Given the description of an element on the screen output the (x, y) to click on. 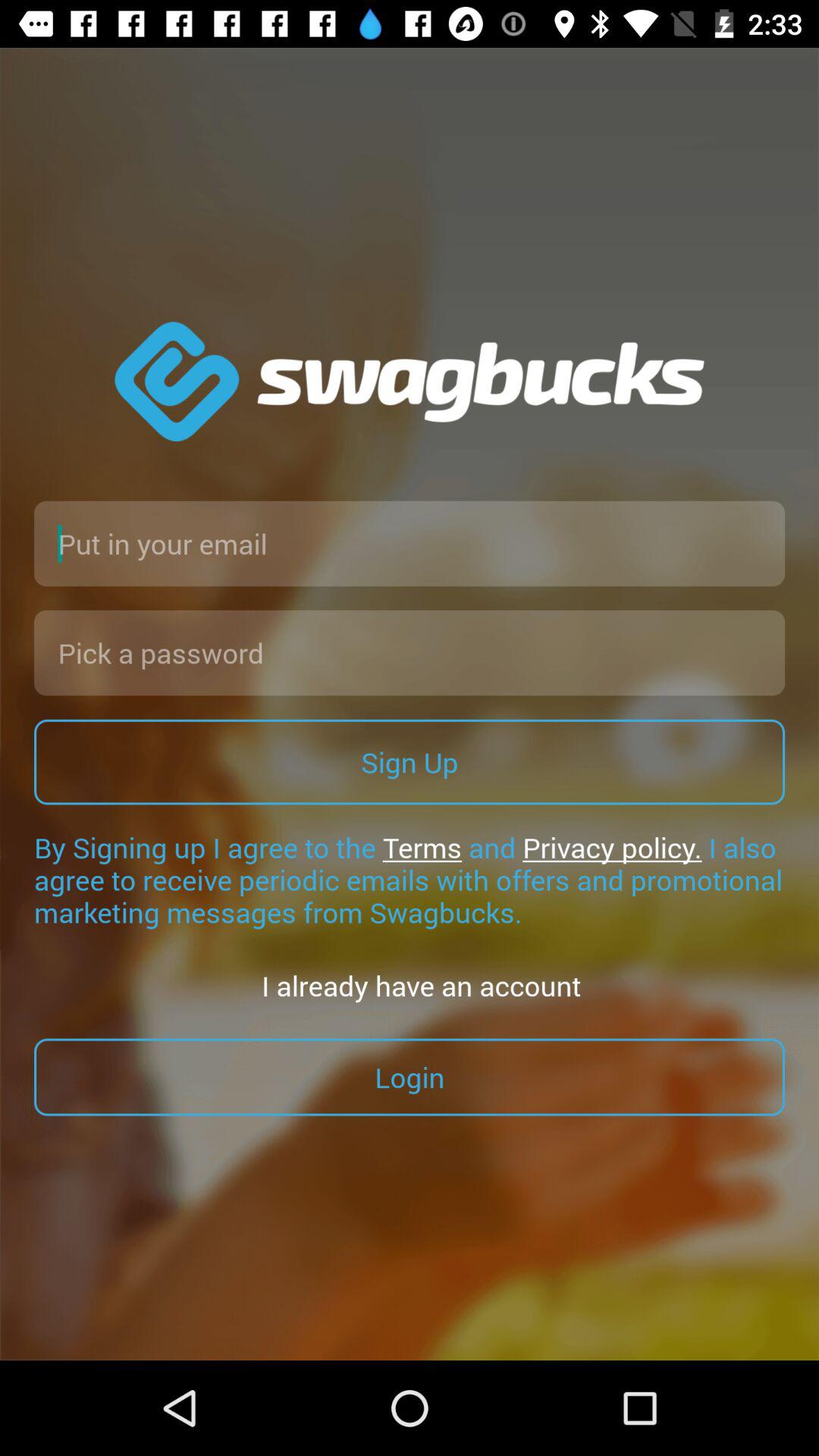
scroll until by signing up (409, 879)
